Given the description of an element on the screen output the (x, y) to click on. 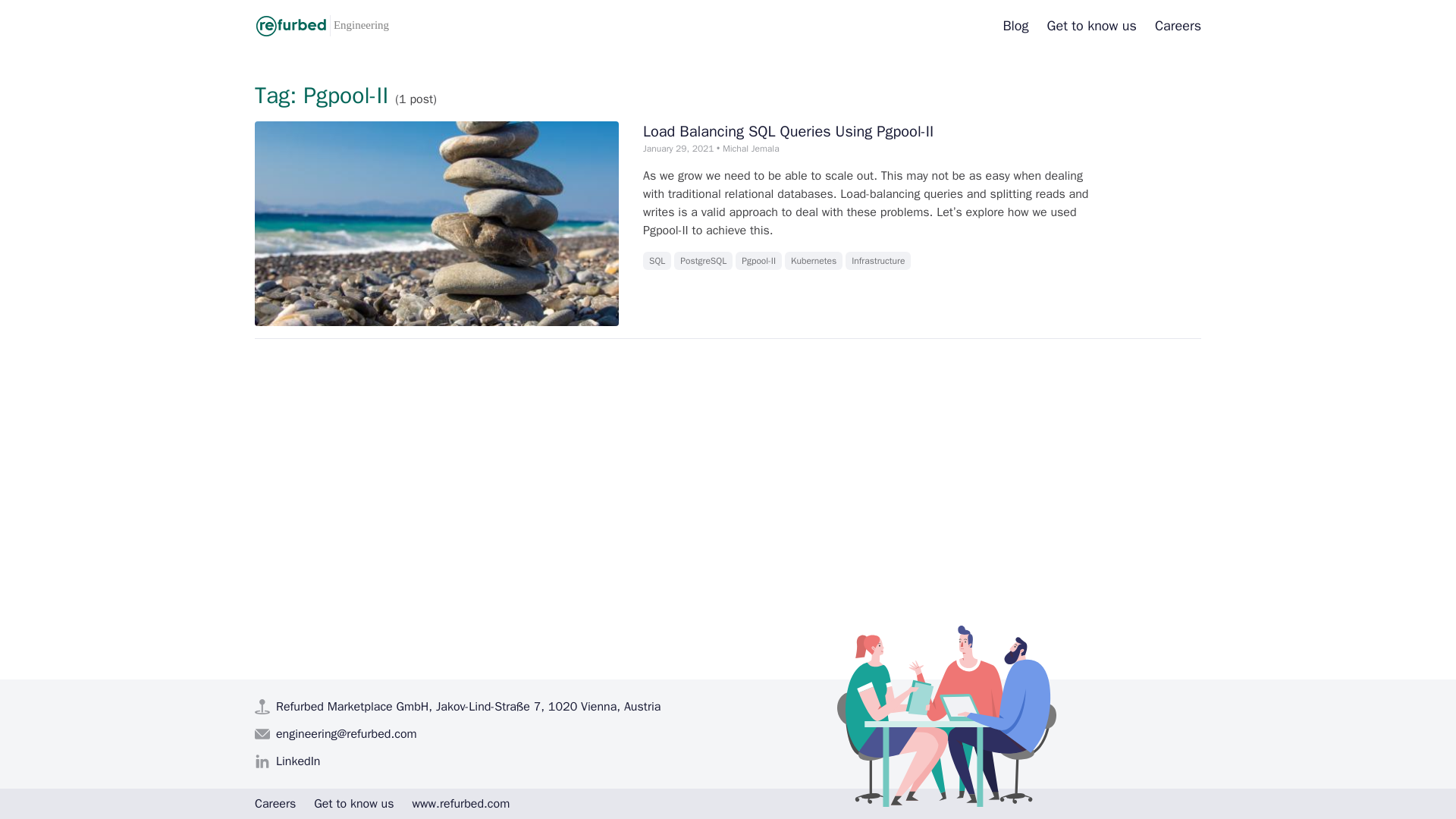
Get to know us (328, 25)
Pgpool-II (1091, 25)
Blog (758, 260)
Careers (1015, 25)
Load Balancing SQL Queries Using Pgpool-II (1177, 25)
PostgreSQL (788, 131)
Kubernetes (703, 260)
Careers (813, 260)
